Given the description of an element on the screen output the (x, y) to click on. 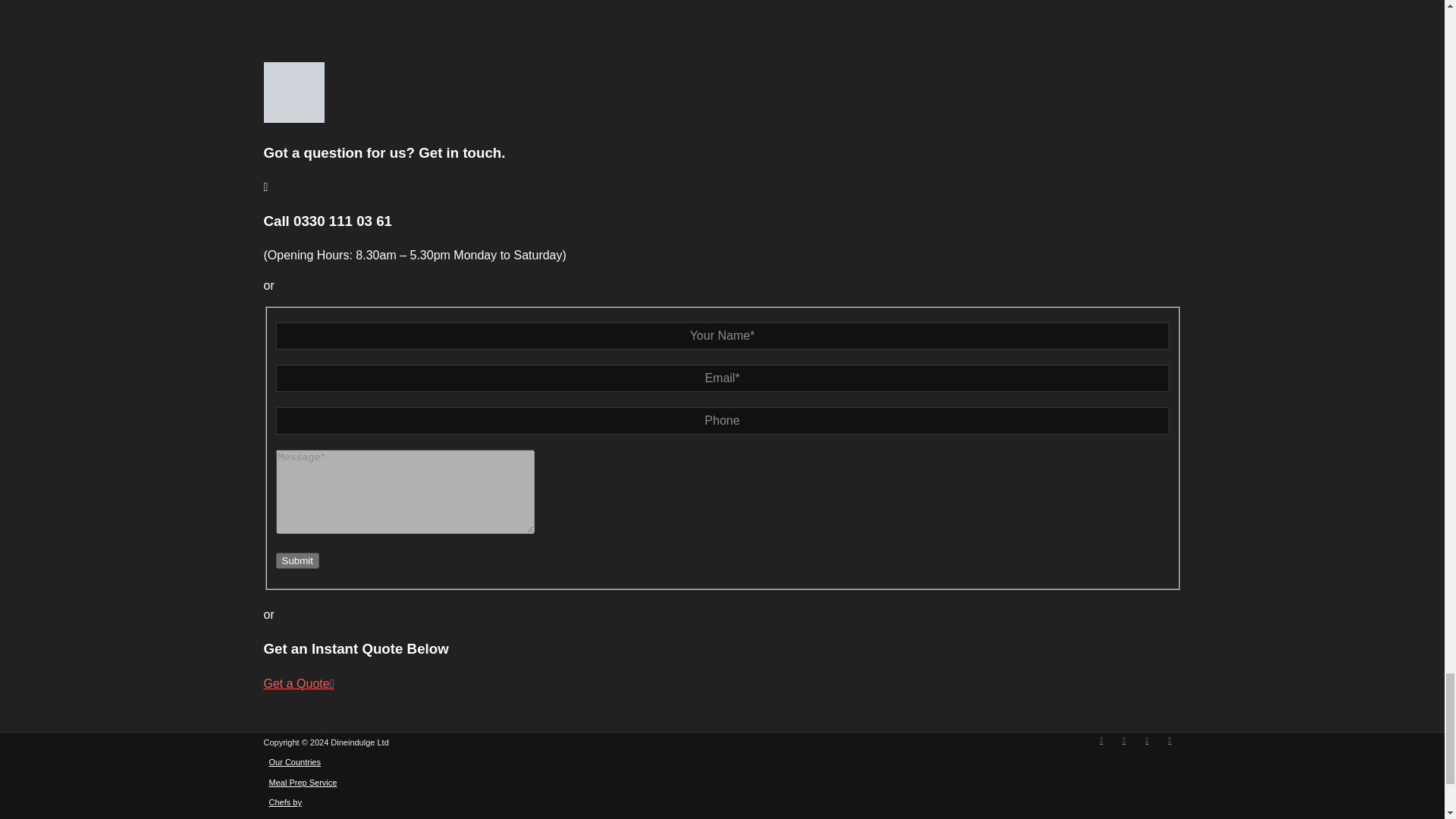
Submit (297, 560)
